Given the description of an element on the screen output the (x, y) to click on. 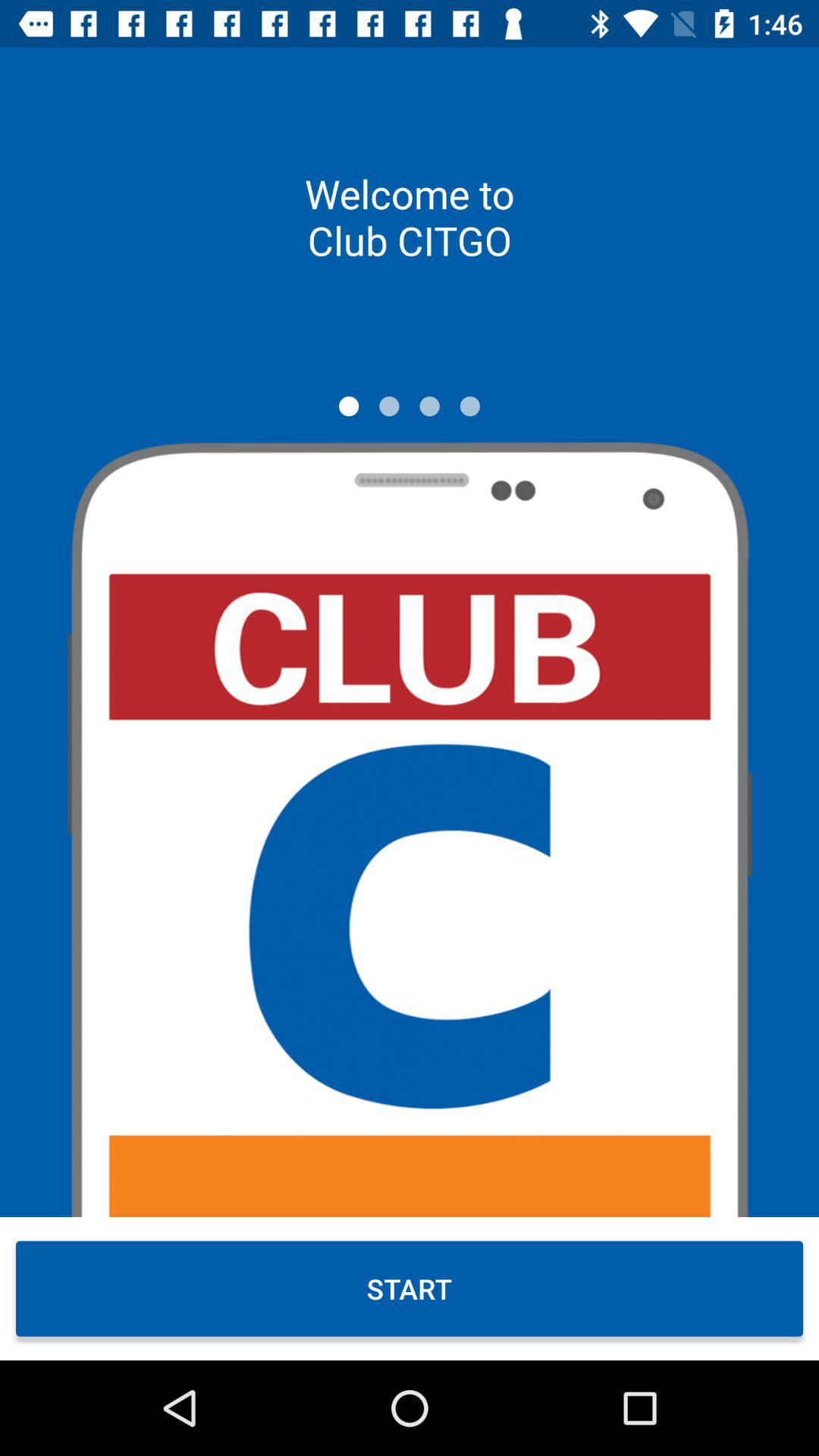
more information (429, 406)
